Given the description of an element on the screen output the (x, y) to click on. 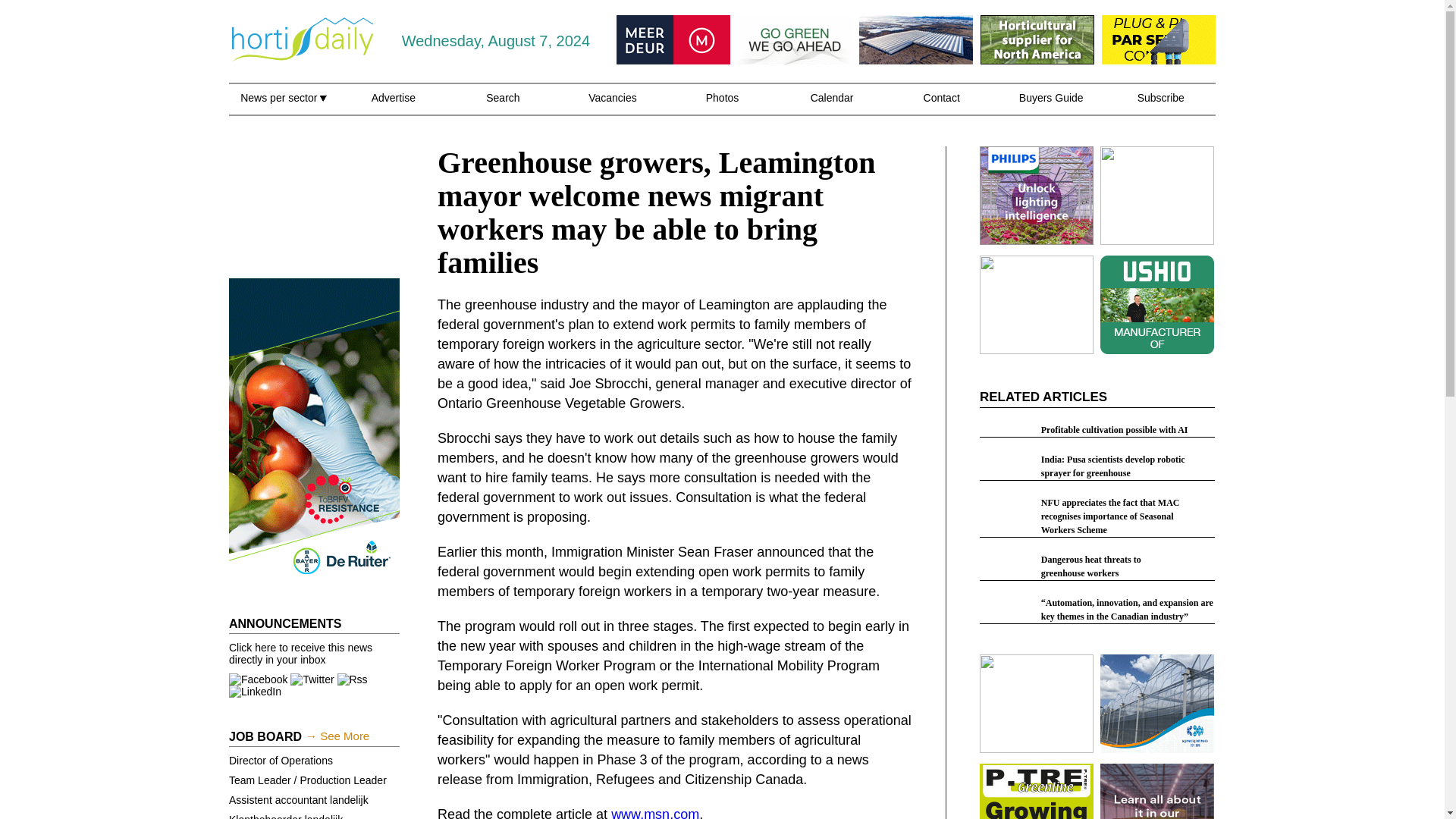
News per sector (283, 106)
